Given the description of an element on the screen output the (x, y) to click on. 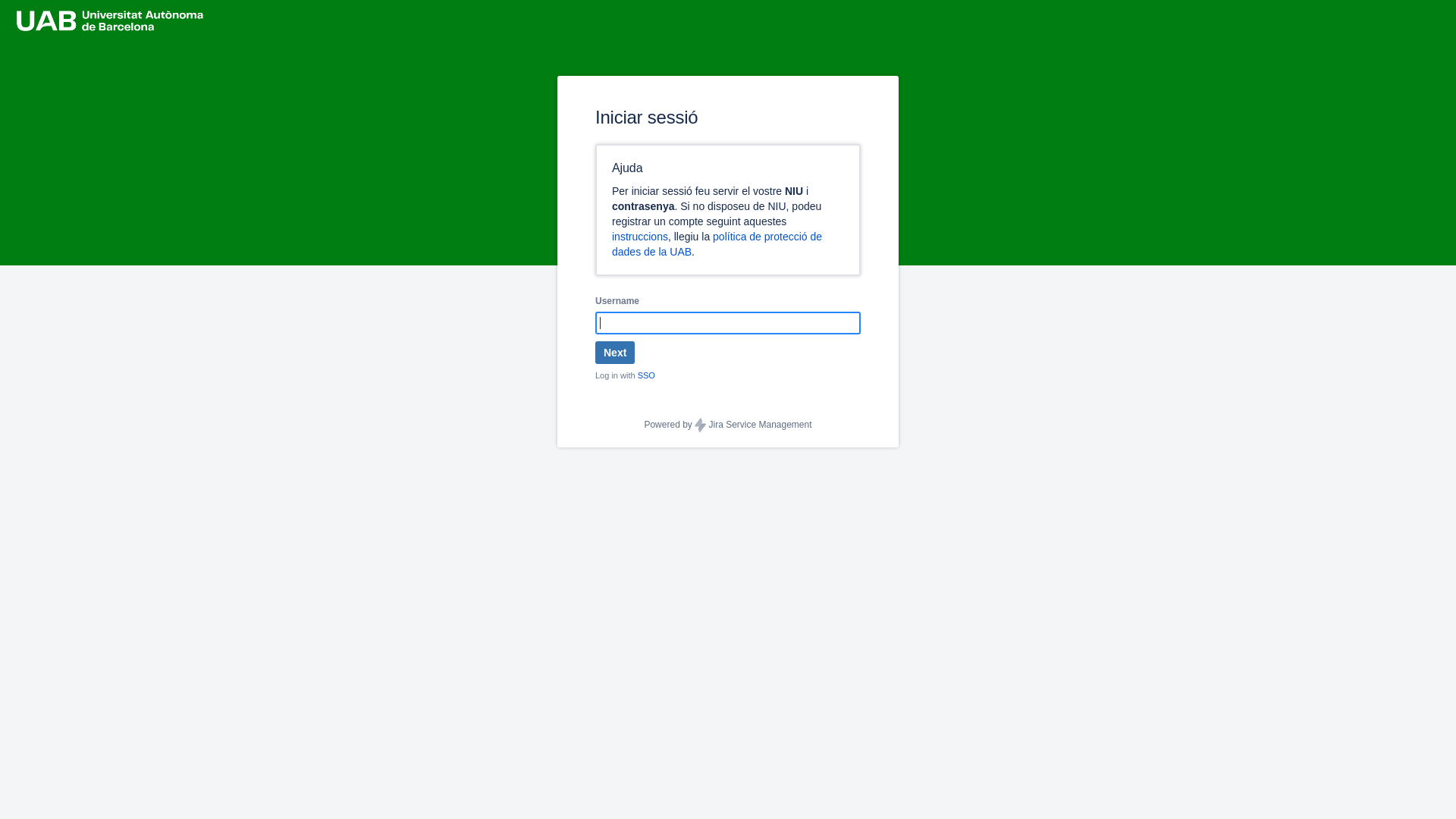
instruccions Element type: text (639, 236)
Next Element type: text (614, 352)
SSO Element type: text (646, 374)
Powered by Jira Service Management Element type: text (727, 424)
